Given the description of an element on the screen output the (x, y) to click on. 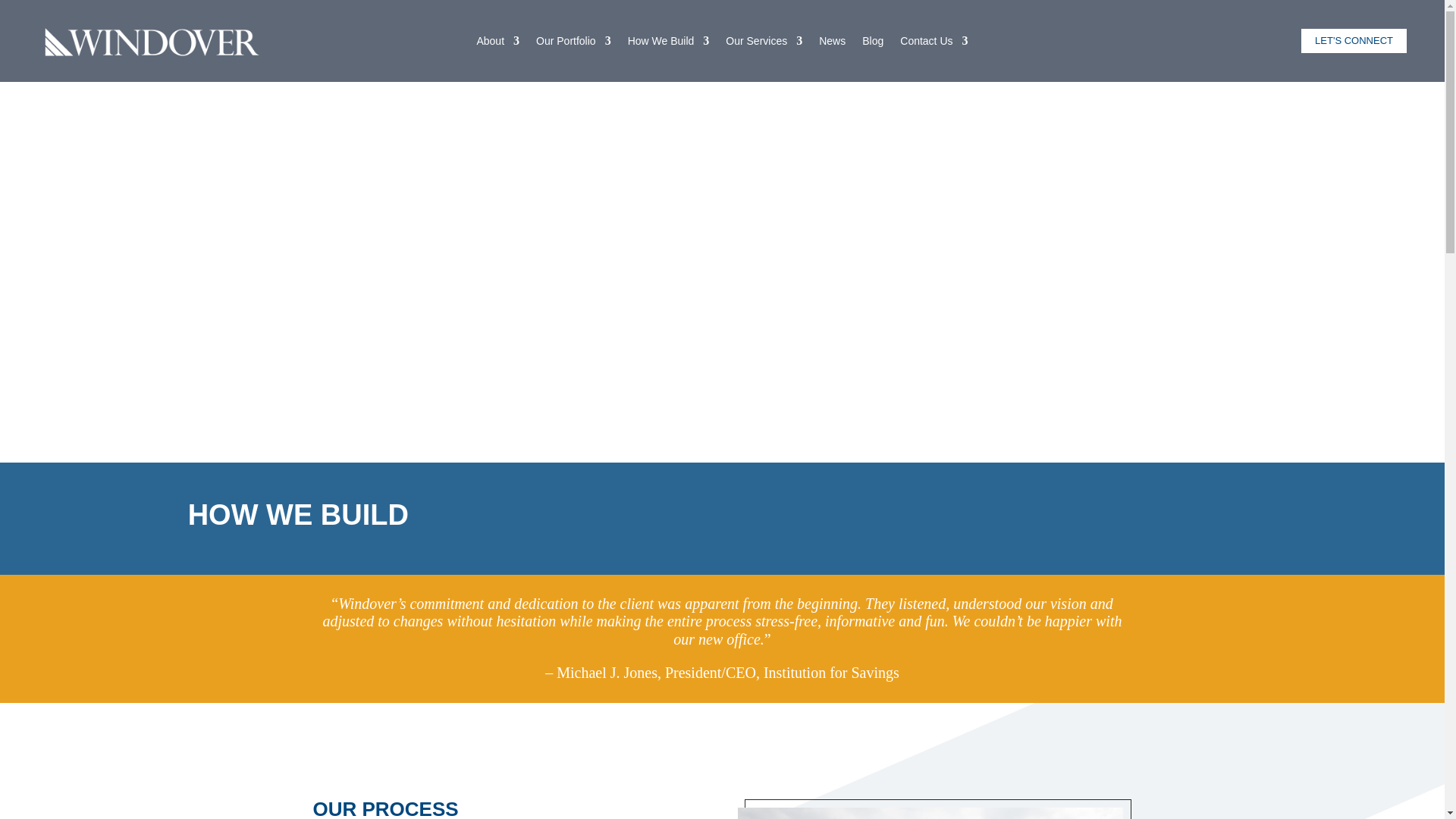
Our Portfolio (573, 44)
Windover Logo (150, 40)
About (497, 44)
